Given the description of an element on the screen output the (x, y) to click on. 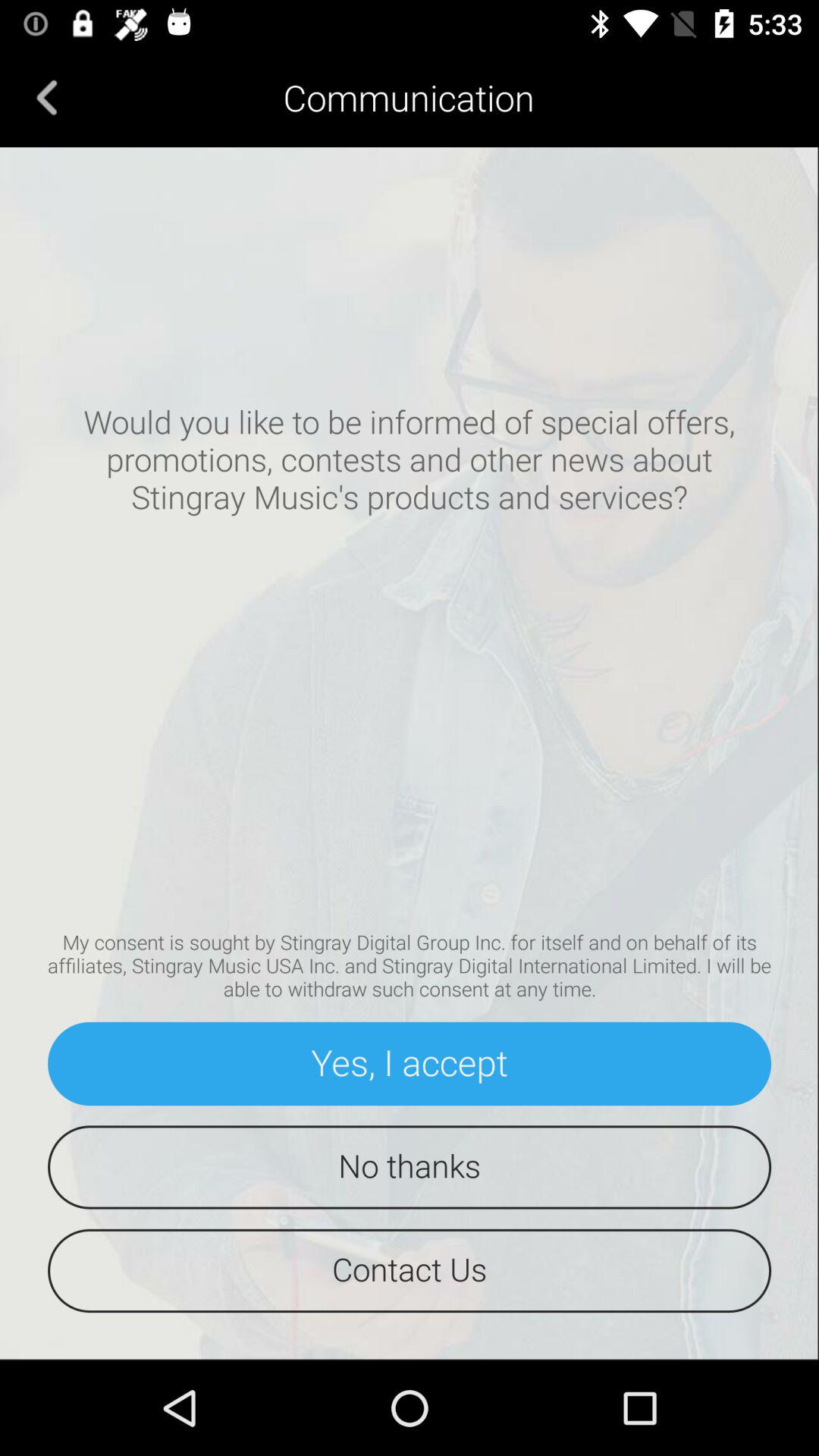
press the item below my consent is item (409, 1063)
